Given the description of an element on the screen output the (x, y) to click on. 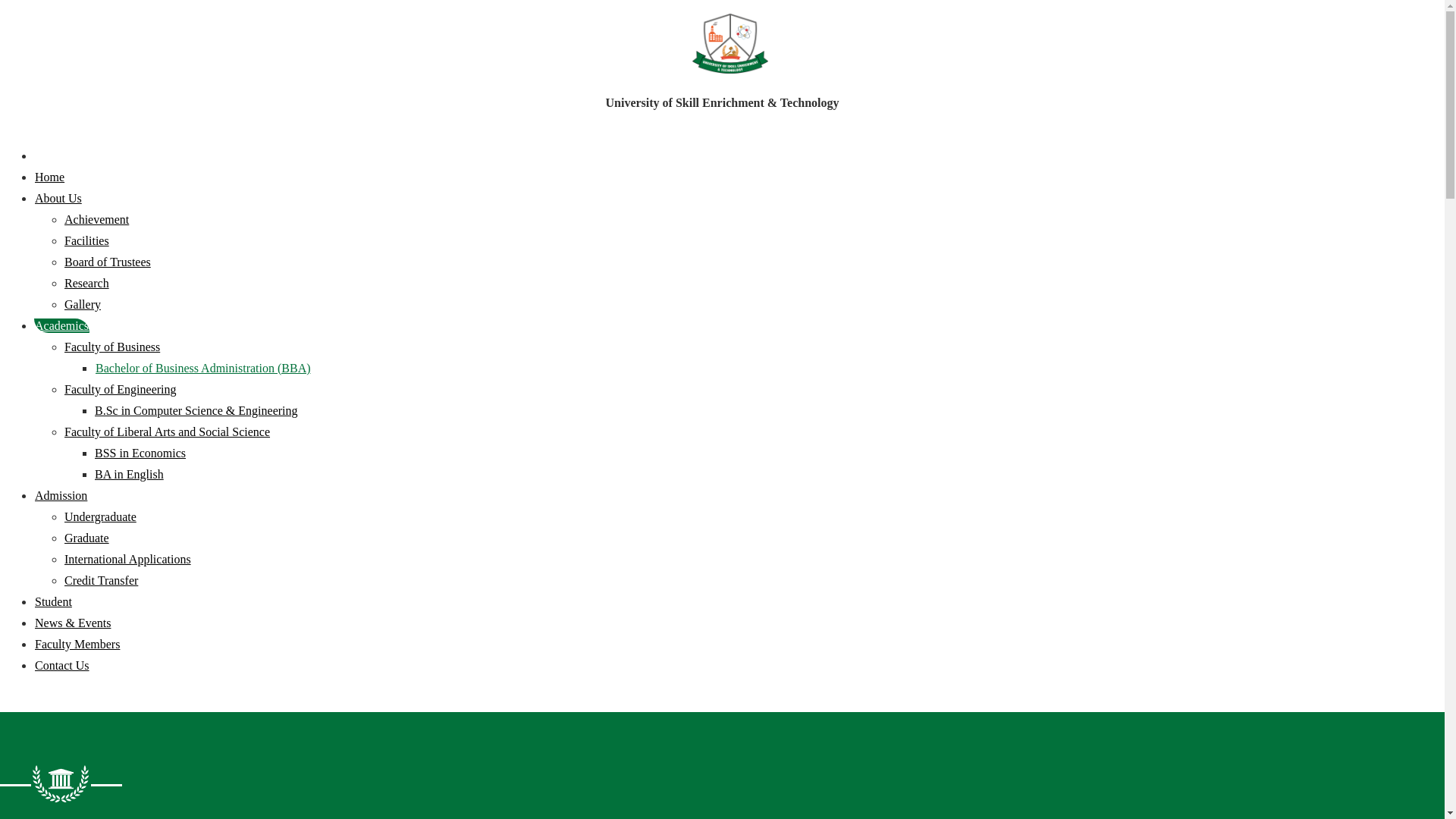
Credit Transfer Element type: text (101, 580)
Graduate Element type: text (86, 537)
Home Element type: text (49, 176)
Contact Us Element type: text (62, 665)
Research Element type: text (86, 282)
Board of Trustees Element type: text (107, 261)
BA in English Element type: text (128, 473)
B.Sc in Computer Science & Engineering Element type: text (196, 410)
About Us Element type: text (58, 198)
Admission Element type: text (60, 495)
Bachelor of Business Administration (BBA) Element type: text (202, 367)
Gallery Element type: text (82, 304)
Faculty of Engineering Element type: text (120, 388)
Undergraduate Element type: text (100, 516)
Achievement Element type: text (96, 219)
Faculty Members Element type: text (77, 644)
Academics Element type: text (61, 325)
Facilities Element type: text (86, 240)
BSS in Economics Element type: text (139, 452)
Student Element type: text (53, 601)
International Applications Element type: text (127, 558)
News & Events Element type: text (72, 622)
Faculty of Liberal Arts and Social Science Element type: text (166, 431)
Faculty of Business Element type: text (112, 346)
